Given the description of an element on the screen output the (x, y) to click on. 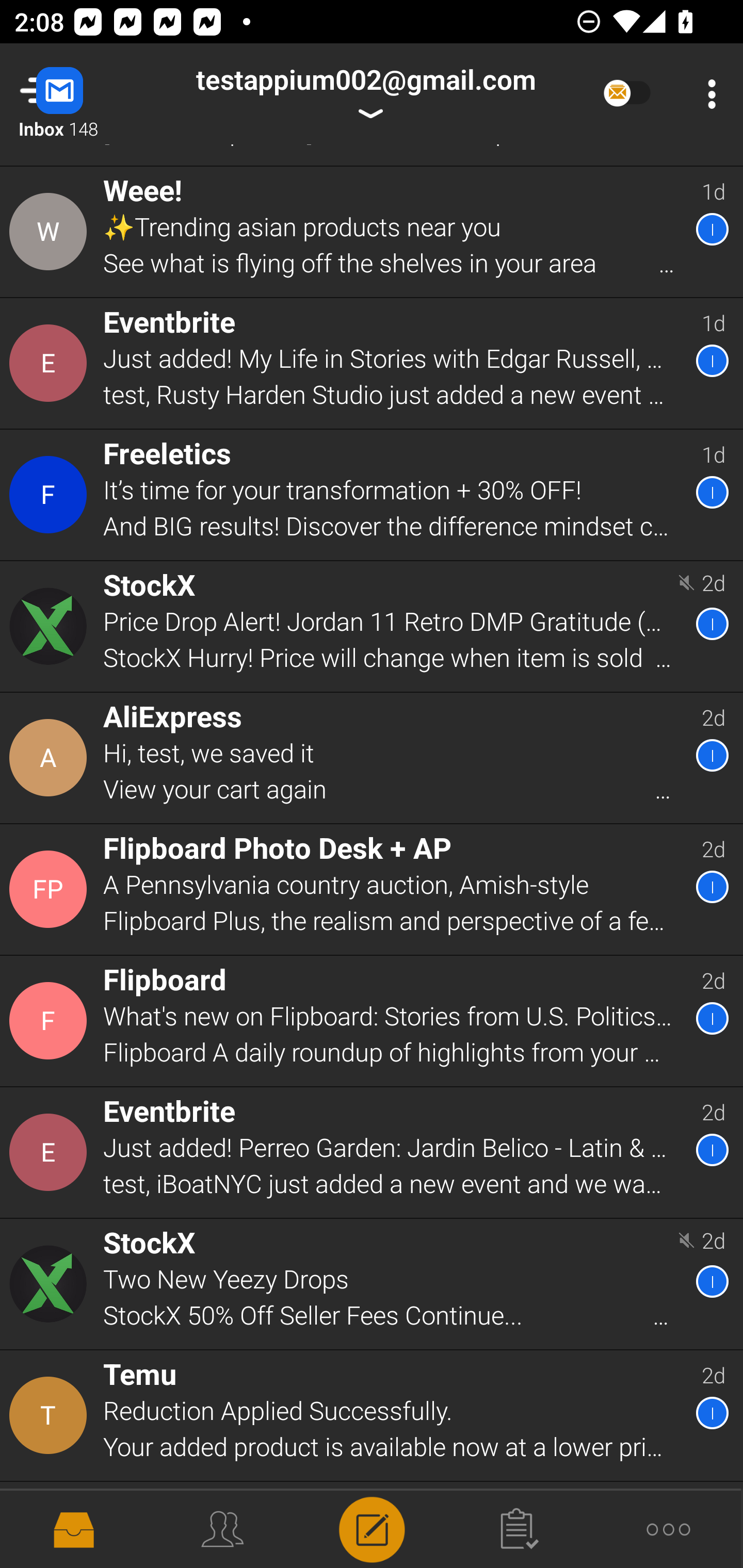
Navigate up (81, 93)
testappium002@gmail.com (365, 93)
More Options (706, 93)
Contact Details (50, 231)
Contact Details (50, 362)
Contact Details (50, 494)
Contact Details (50, 626)
Contact Details (50, 758)
Contact Details (50, 889)
Contact Details (50, 1021)
Contact Details (50, 1152)
Contact Details (50, 1284)
Contact Details (50, 1415)
Compose (371, 1528)
